Given the description of an element on the screen output the (x, y) to click on. 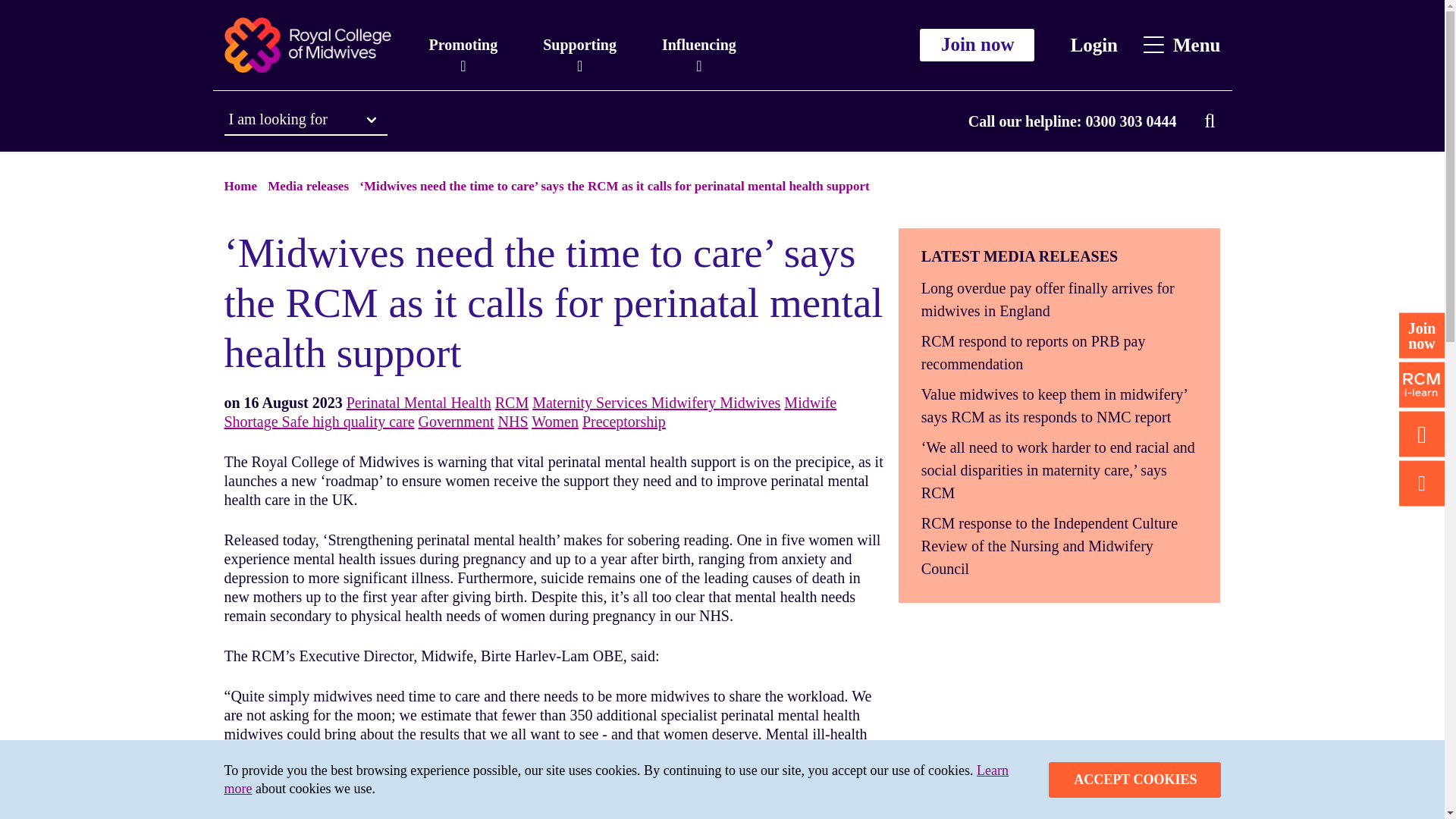
Promoting (463, 45)
Influencing (698, 45)
Supporting (579, 45)
Promoting (463, 45)
Supporting (579, 45)
